Given the description of an element on the screen output the (x, y) to click on. 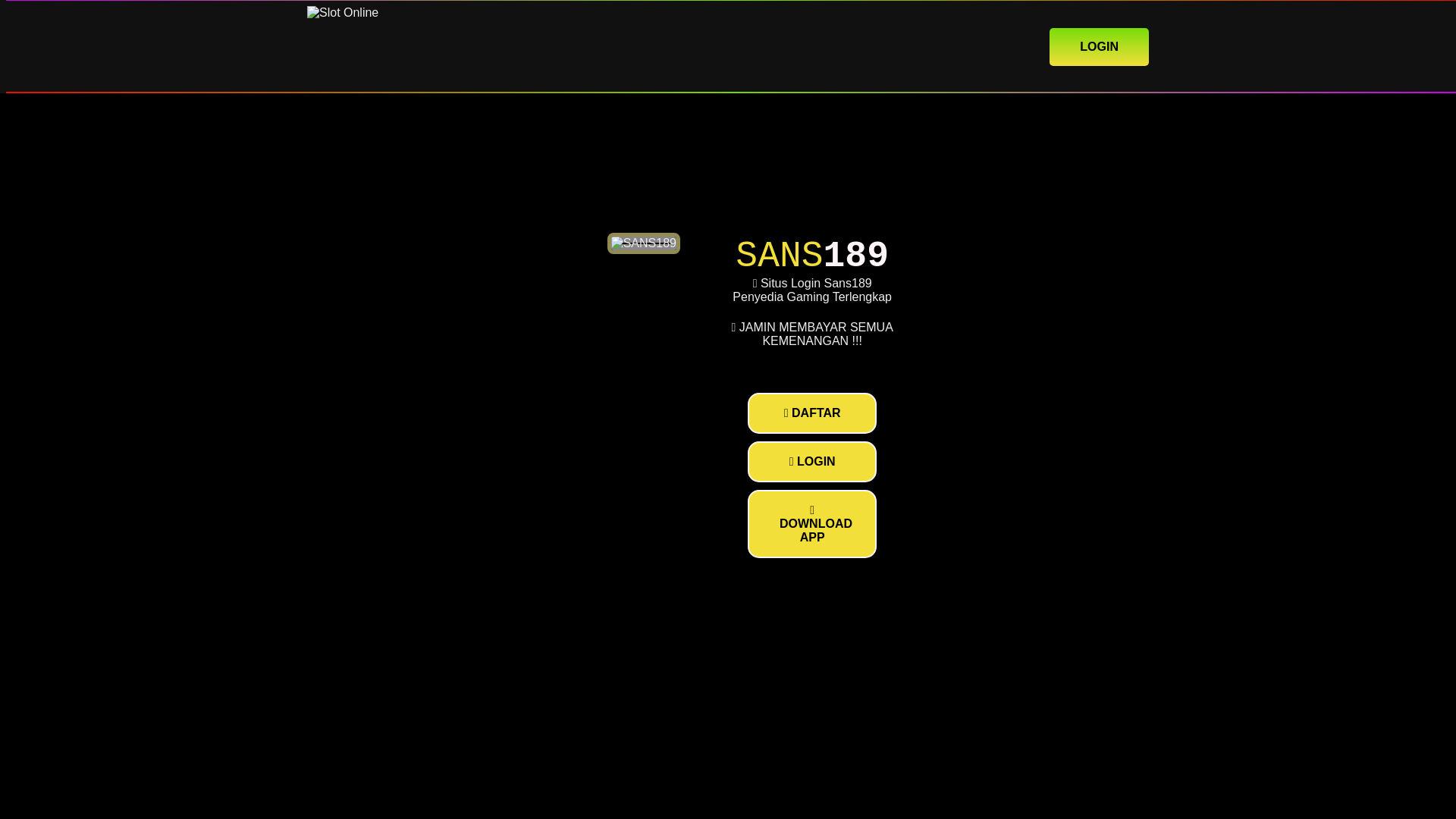
DAFTAR (812, 413)
DOWNLOAD APP (812, 523)
LOGIN (1098, 46)
LOGIN (812, 461)
